Given the description of an element on the screen output the (x, y) to click on. 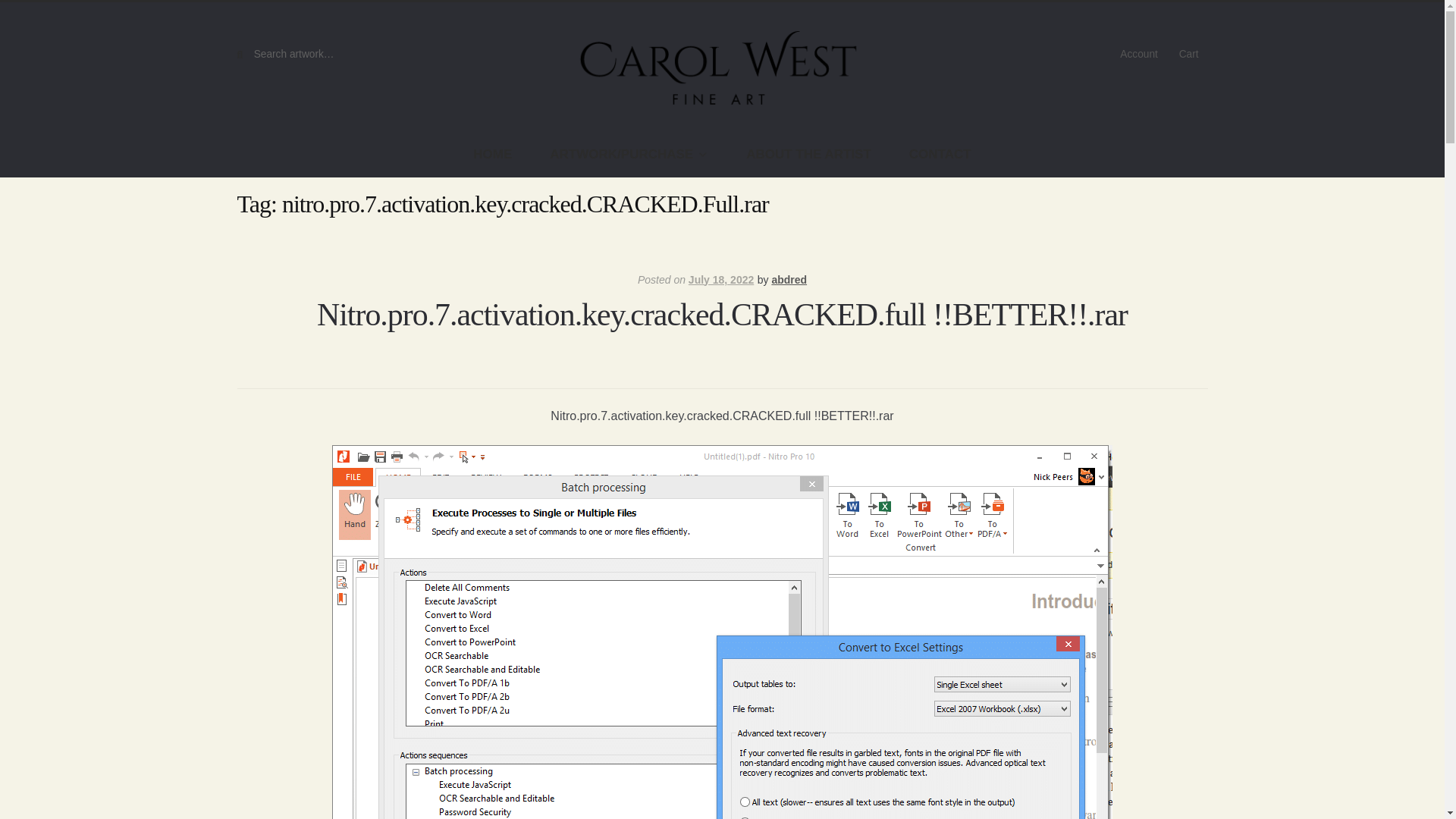
ABOUT THE ARTIST (807, 154)
Cart (1189, 54)
HOME (492, 154)
July 18, 2022 (721, 279)
CONTACT (939, 154)
abdred (788, 279)
Account (1138, 54)
